Given the description of an element on the screen output the (x, y) to click on. 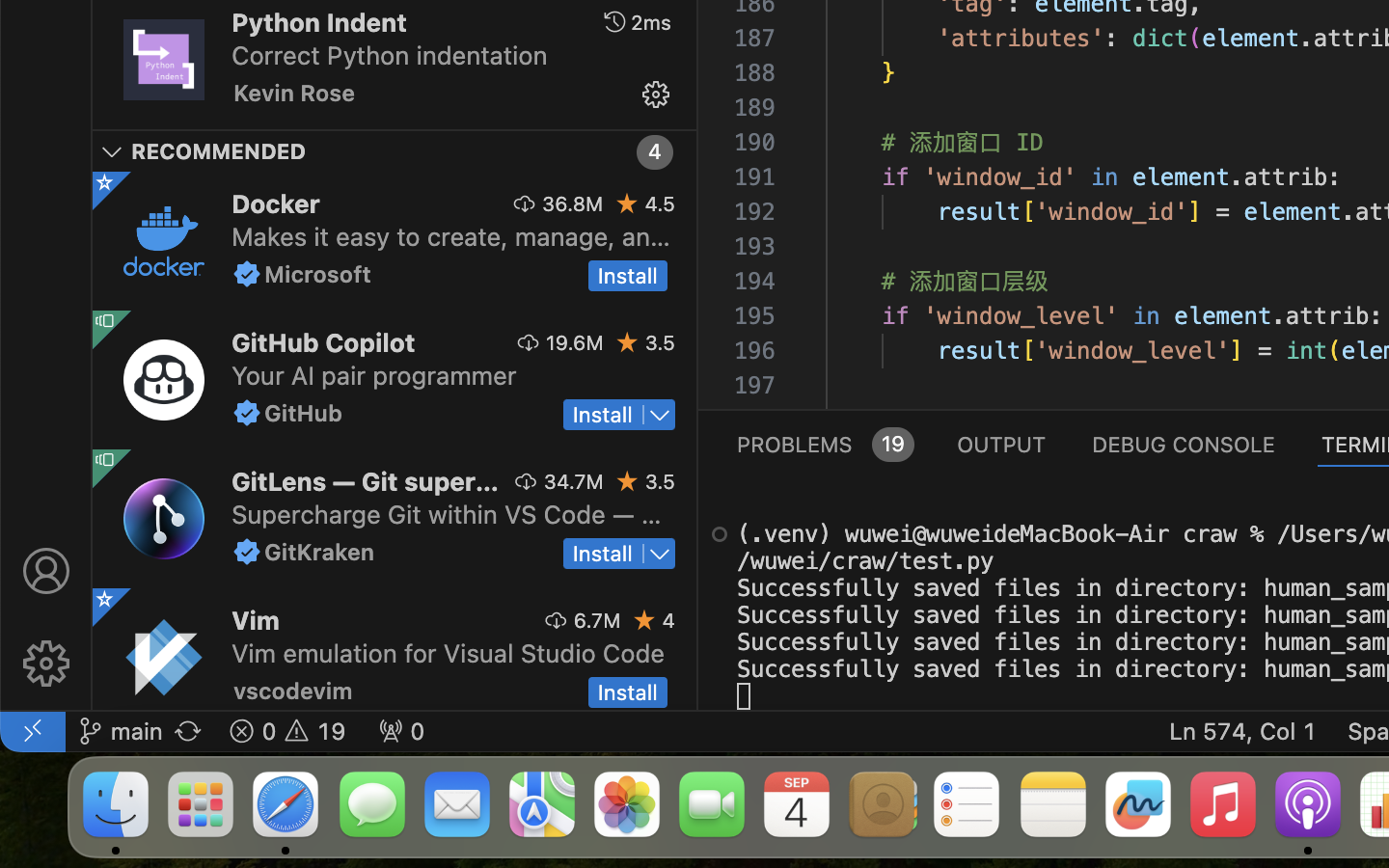
vscodevim Element type: AXStaticText (293, 690)
0 OUTPUT Element type: AXRadioButton (1001, 443)
 0 Element type: AXButton (400, 730)
6.7M Element type: AXStaticText (596, 619)
34.7M Element type: AXStaticText (573, 480)
